Given the description of an element on the screen output the (x, y) to click on. 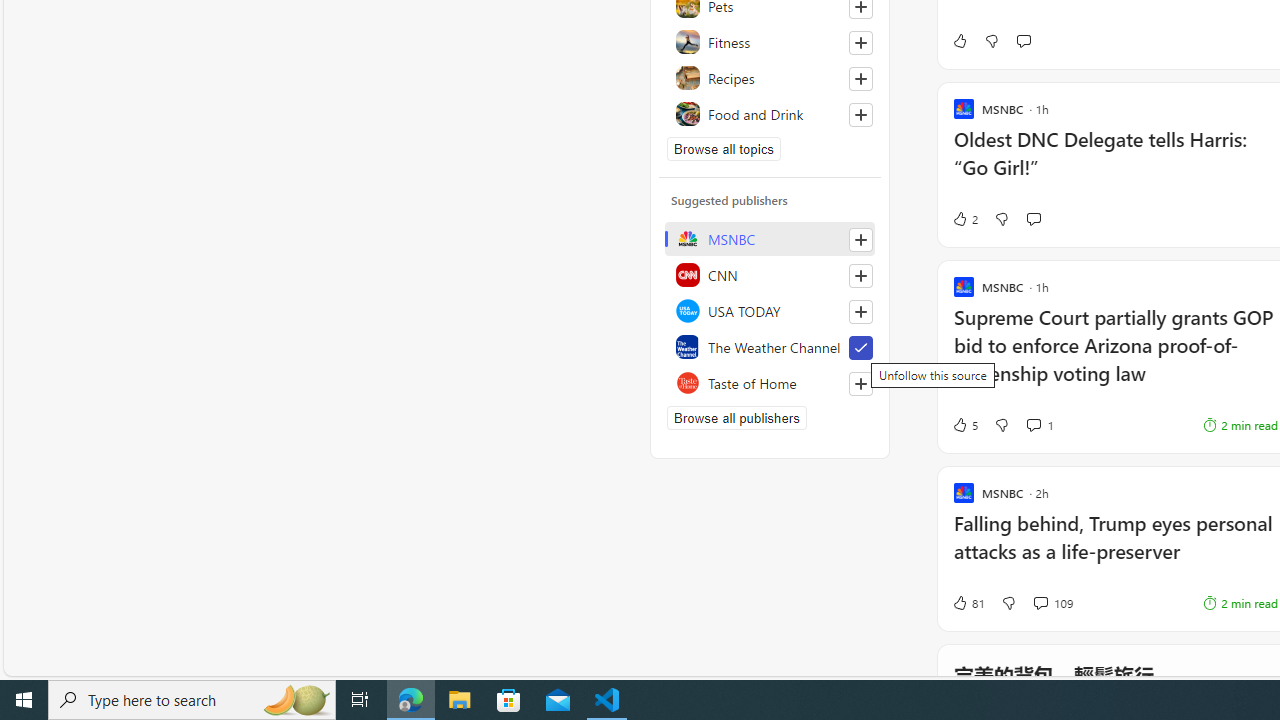
Recipes (770, 78)
2 Like (964, 219)
Browse all publishers (736, 417)
Fitness (770, 42)
USA TODAY (770, 310)
Unfollow this source (860, 348)
Taste of Home (770, 382)
5 Like (964, 425)
Follow this topic (860, 114)
Follow this topic (860, 114)
The Weather Channel (770, 346)
